Given the description of an element on the screen output the (x, y) to click on. 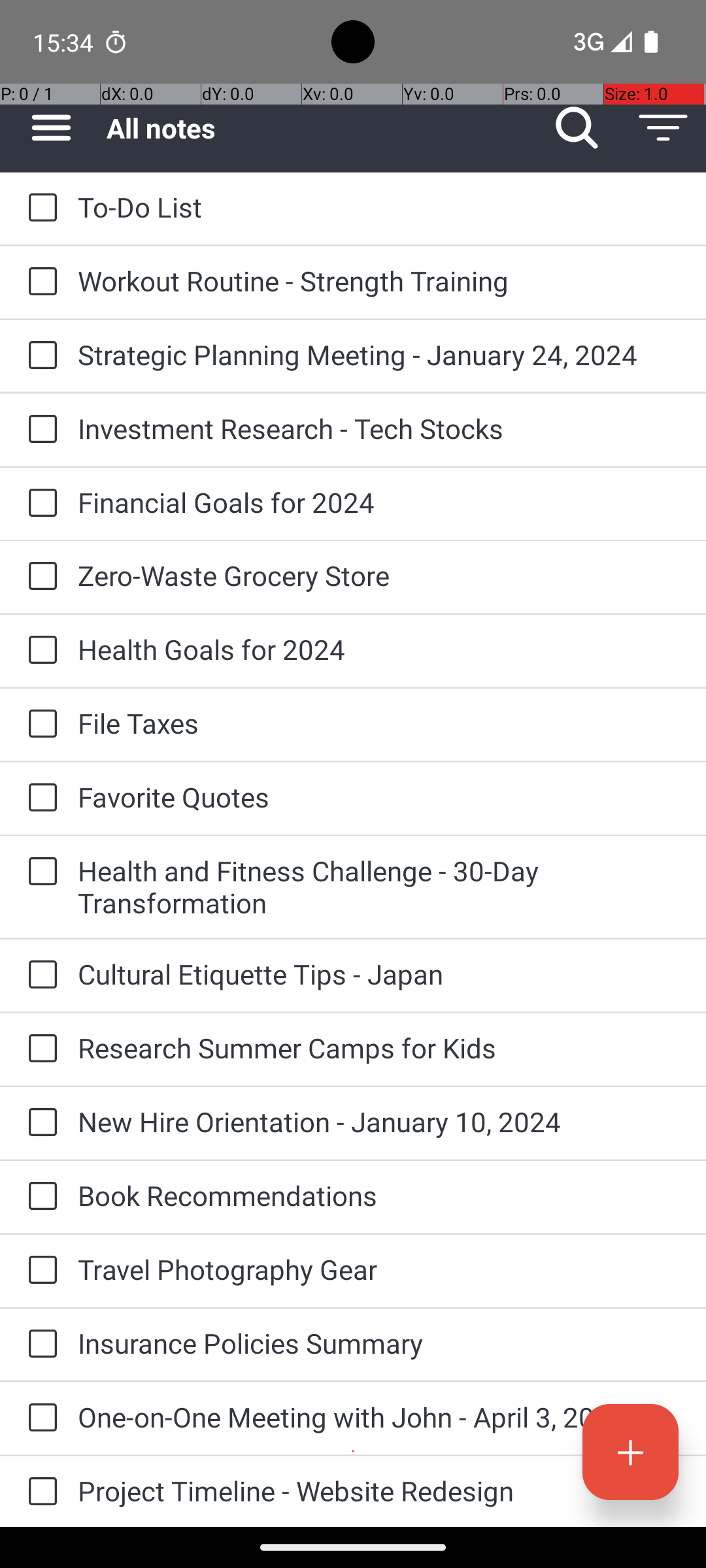
to-do: To-Do List Element type: android.widget.CheckBox (38, 208)
To-Do List Element type: android.widget.TextView (378, 206)
to-do: Workout Routine - Strength Training Element type: android.widget.CheckBox (38, 282)
Workout Routine - Strength Training Element type: android.widget.TextView (378, 280)
to-do: Strategic Planning Meeting - January 24, 2024 Element type: android.widget.CheckBox (38, 356)
Strategic Planning Meeting - January 24, 2024 Element type: android.widget.TextView (378, 354)
to-do: Investment Research - Tech Stocks Element type: android.widget.CheckBox (38, 429)
Investment Research - Tech Stocks Element type: android.widget.TextView (378, 427)
to-do: Financial Goals for 2024 Element type: android.widget.CheckBox (38, 503)
Financial Goals for 2024 Element type: android.widget.TextView (378, 501)
to-do: Zero-Waste Grocery Store Element type: android.widget.CheckBox (38, 576)
Zero-Waste Grocery Store Element type: android.widget.TextView (378, 574)
to-do: Health Goals for 2024 Element type: android.widget.CheckBox (38, 650)
Health Goals for 2024 Element type: android.widget.TextView (378, 648)
to-do: File Taxes Element type: android.widget.CheckBox (38, 724)
File Taxes Element type: android.widget.TextView (378, 722)
to-do: Favorite Quotes Element type: android.widget.CheckBox (38, 798)
Favorite Quotes Element type: android.widget.TextView (378, 796)
to-do: Health and Fitness Challenge - 30-Day Transformation Element type: android.widget.CheckBox (38, 872)
Health and Fitness Challenge - 30-Day Transformation Element type: android.widget.TextView (378, 886)
to-do: Cultural Etiquette Tips - Japan Element type: android.widget.CheckBox (38, 975)
Cultural Etiquette Tips - Japan Element type: android.widget.TextView (378, 973)
to-do: Research Summer Camps for Kids Element type: android.widget.CheckBox (38, 1049)
Research Summer Camps for Kids Element type: android.widget.TextView (378, 1047)
to-do: Book Recommendations Element type: android.widget.CheckBox (38, 1196)
Book Recommendations Element type: android.widget.TextView (378, 1194)
to-do: Travel Photography Gear Element type: android.widget.CheckBox (38, 1270)
Travel Photography Gear Element type: android.widget.TextView (378, 1268)
to-do: Insurance Policies Summary Element type: android.widget.CheckBox (38, 1344)
